Given the description of an element on the screen output the (x, y) to click on. 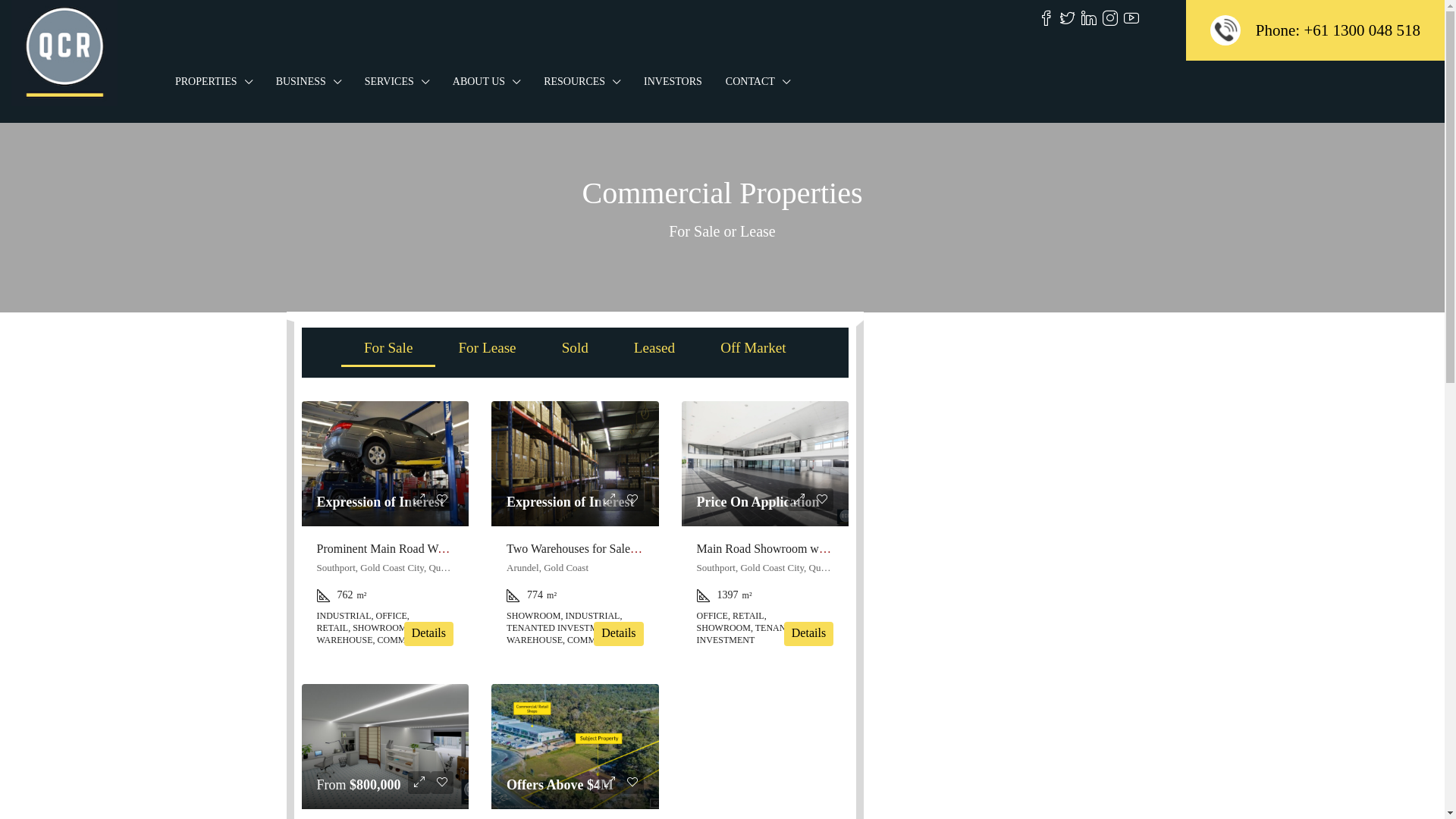
Preview Element type: hover (609, 782)
Favourite Element type: hover (821, 499)
Preview Element type: hover (798, 499)
CONTACT Element type: text (757, 81)
Favourite Element type: hover (441, 782)
bm01 | QCR Element type: hover (765, 463)
Preview Element type: hover (418, 782)
Prominent Main Road Warehouse & Workshop Element type: text (431, 548)
+61 1300 048 518 Element type: text (1361, 30)
645AERIAL-80 | QCR Element type: hover (574, 746)
Preview Element type: hover (418, 499)
WarehouseMedium | QCR Element type: hover (574, 463)
Details Element type: text (618, 633)
warehouse-auto-workshop | QCR Element type: hover (385, 463)
Details Element type: text (428, 633)
Favourite Element type: hover (632, 499)
ABOUT US Element type: text (486, 81)
RESOURCES Element type: text (581, 81)
Leased Element type: text (654, 347)
Preview Element type: hover (609, 499)
Favourite Element type: hover (632, 782)
For Sale Element type: text (388, 347)
Two Warehouses for Sale Gold Coast Element type: text (596, 548)
For Lease Element type: text (486, 347)
SERVICES Element type: text (396, 81)
Main Road Showroom with Global Brand Tenant Element type: text (816, 548)
BUSINESS Element type: text (308, 81)
PROPERTIES Element type: text (213, 81)
RIA7 | QCR Element type: hover (385, 746)
Details Element type: text (808, 633)
Sold Element type: text (575, 347)
Off Market Element type: text (753, 347)
Favourite Element type: hover (441, 499)
INVESTORS Element type: text (672, 81)
